Given the description of an element on the screen output the (x, y) to click on. 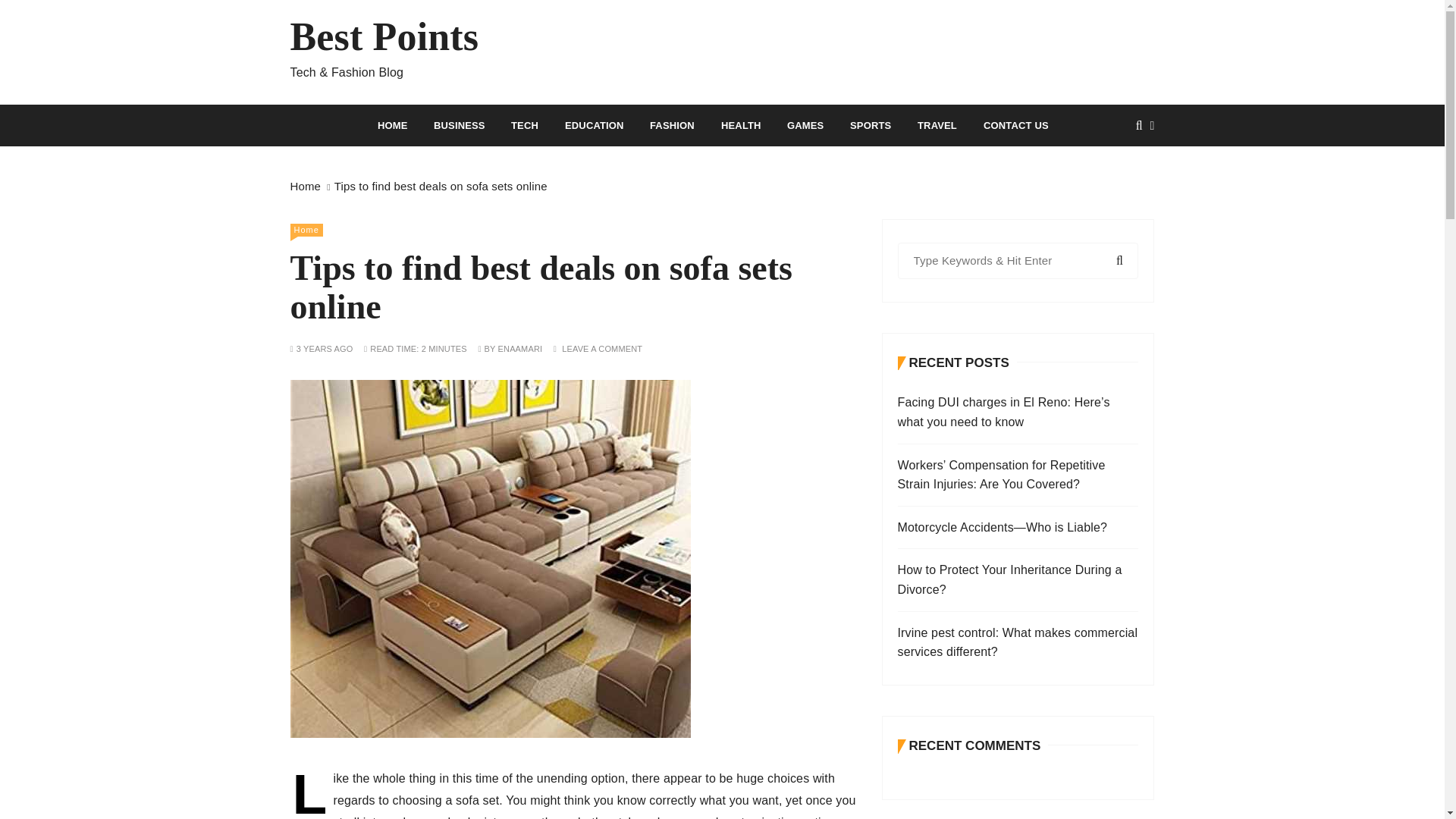
SPORTS (870, 125)
Tips to find best deals on sofa sets online (440, 185)
TECH (524, 125)
ENAAMARI (520, 348)
EDUCATION (593, 125)
How to Protect Your Inheritance During a Divorce?  (1018, 579)
FASHION (672, 125)
Home (305, 229)
TRAVEL (936, 125)
